Given the description of an element on the screen output the (x, y) to click on. 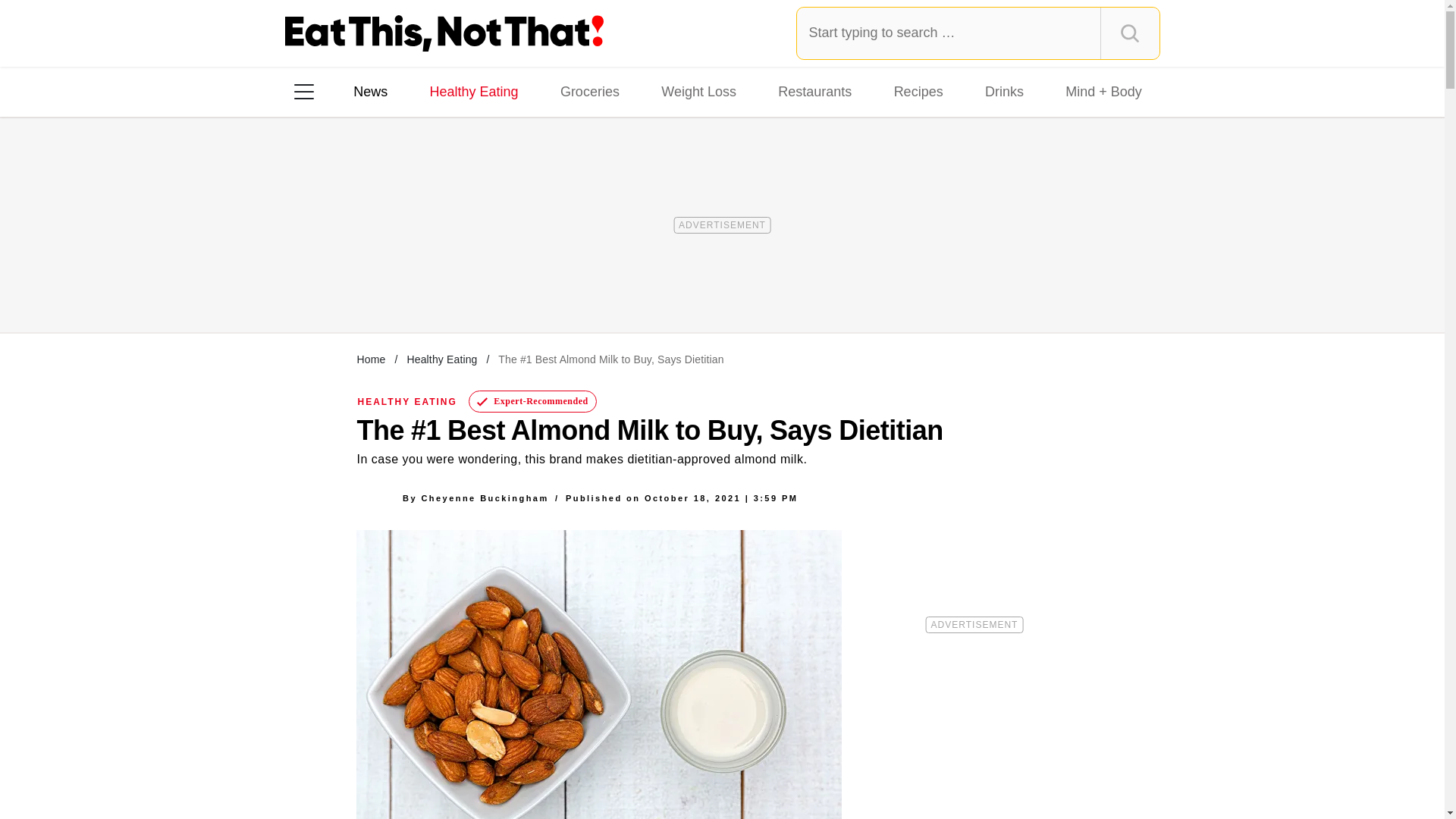
Facebook (314, 287)
Groceries (590, 91)
News (370, 91)
Weight Loss (698, 91)
Restaurants (814, 91)
Posts by Cheyenne Buckingham (484, 497)
Type and press Enter to search (978, 32)
Healthy Eating (473, 91)
Instagram (357, 287)
HEALTHY EATING (407, 401)
